Given the description of an element on the screen output the (x, y) to click on. 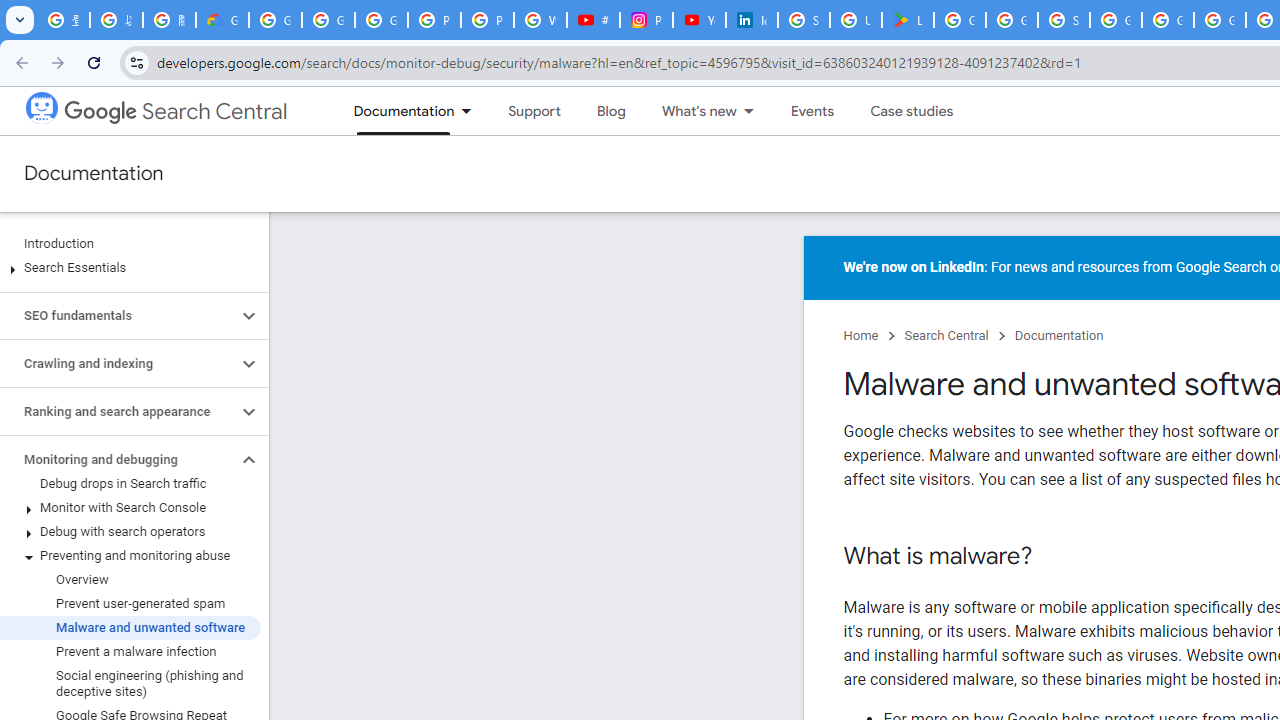
Dropdown menu for What's new (754, 111)
Social engineering (phishing and deceptive sites) (130, 683)
Debug drops in Search traffic (130, 484)
Documentation (1058, 335)
Monitor with Search Console (130, 507)
Malware and unwanted software (130, 628)
Privacy Help Center - Policies Help (487, 20)
Support (534, 111)
Google Workspace - Specific Terms (1011, 20)
Documentation, selected (394, 111)
Sign in - Google Accounts (803, 20)
